Given the description of an element on the screen output the (x, y) to click on. 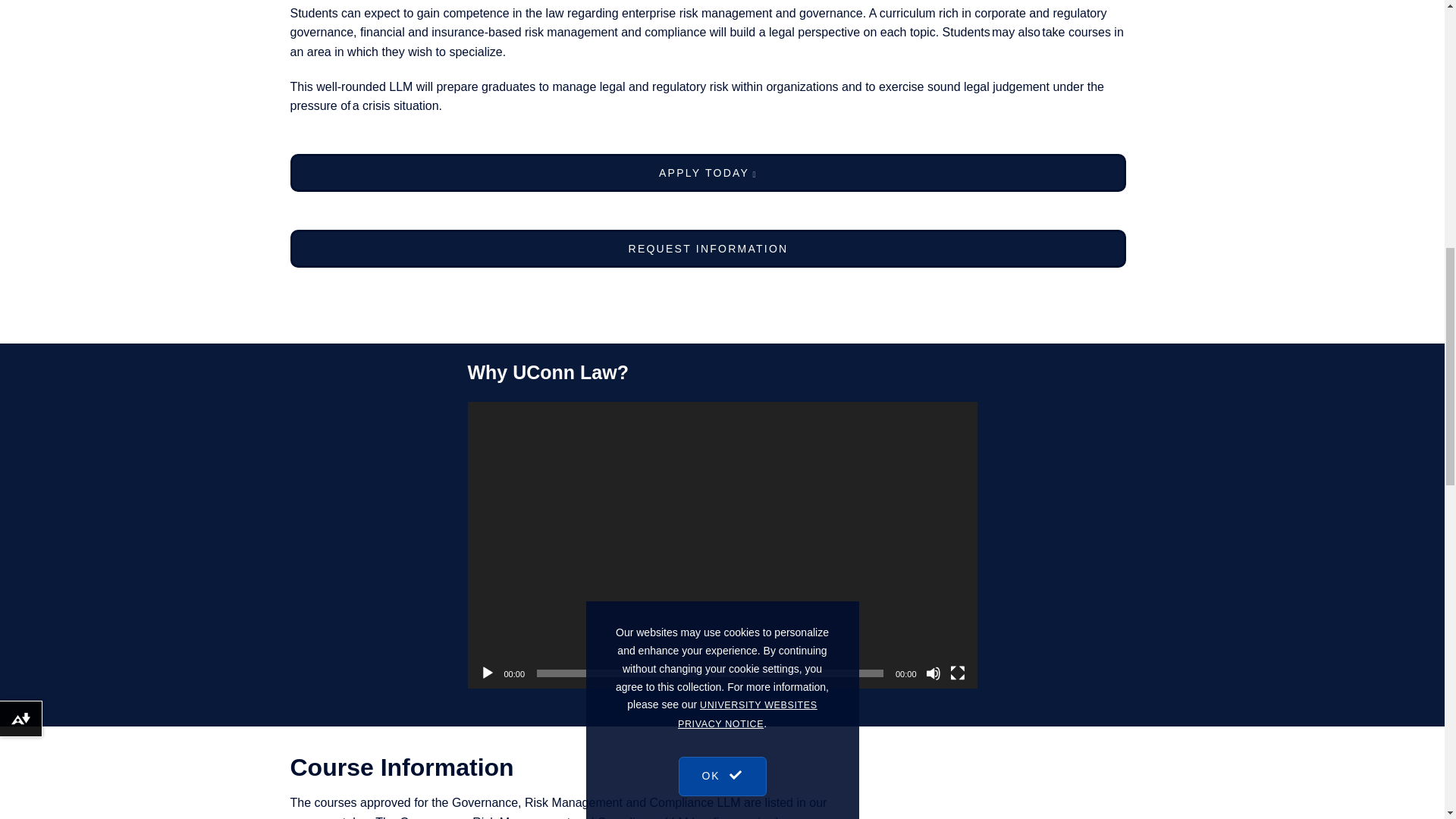
APPLY TODAY (707, 172)
Play (487, 672)
REQUEST INFORMATION (707, 248)
UNIVERSITY WEBSITES PRIVACY NOTICE (747, 88)
OK (721, 133)
Mute (932, 672)
Fullscreen (956, 672)
